Given the description of an element on the screen output the (x, y) to click on. 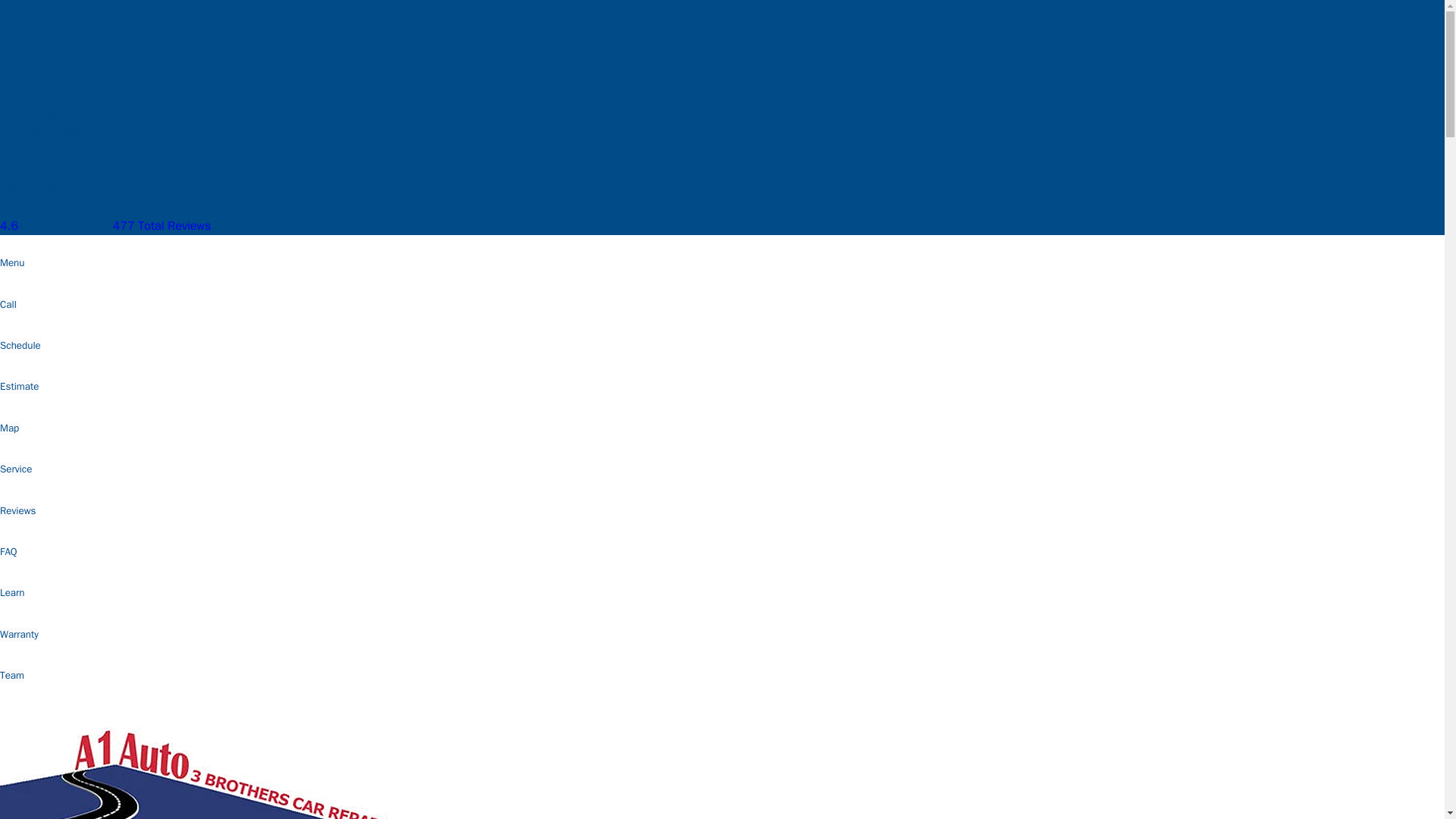
Learn (12, 592)
Service (16, 468)
Menu (12, 263)
Schedule (20, 345)
Estimate (19, 386)
Call (8, 305)
Warranty (19, 634)
4.6 477 Total Reviews (105, 225)
Team (12, 675)
FAQ (8, 551)
Reviews (17, 510)
Map (9, 427)
